Given the description of an element on the screen output the (x, y) to click on. 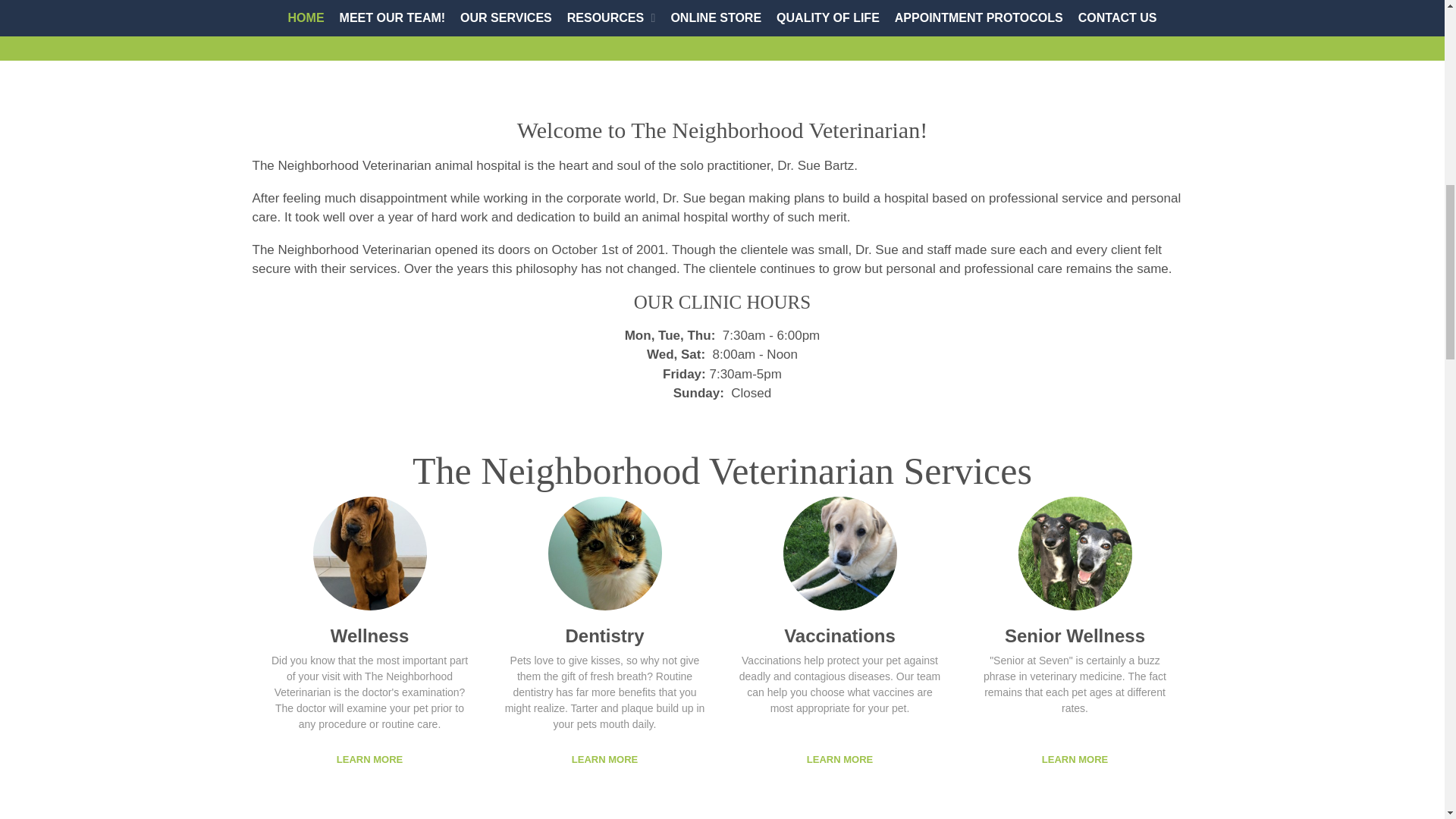
LEARN MORE (839, 758)
LEARN MORE (369, 758)
LEARN MORE (1075, 758)
Request an Appointment (1081, 18)
LEARN MORE (604, 758)
